Given the description of an element on the screen output the (x, y) to click on. 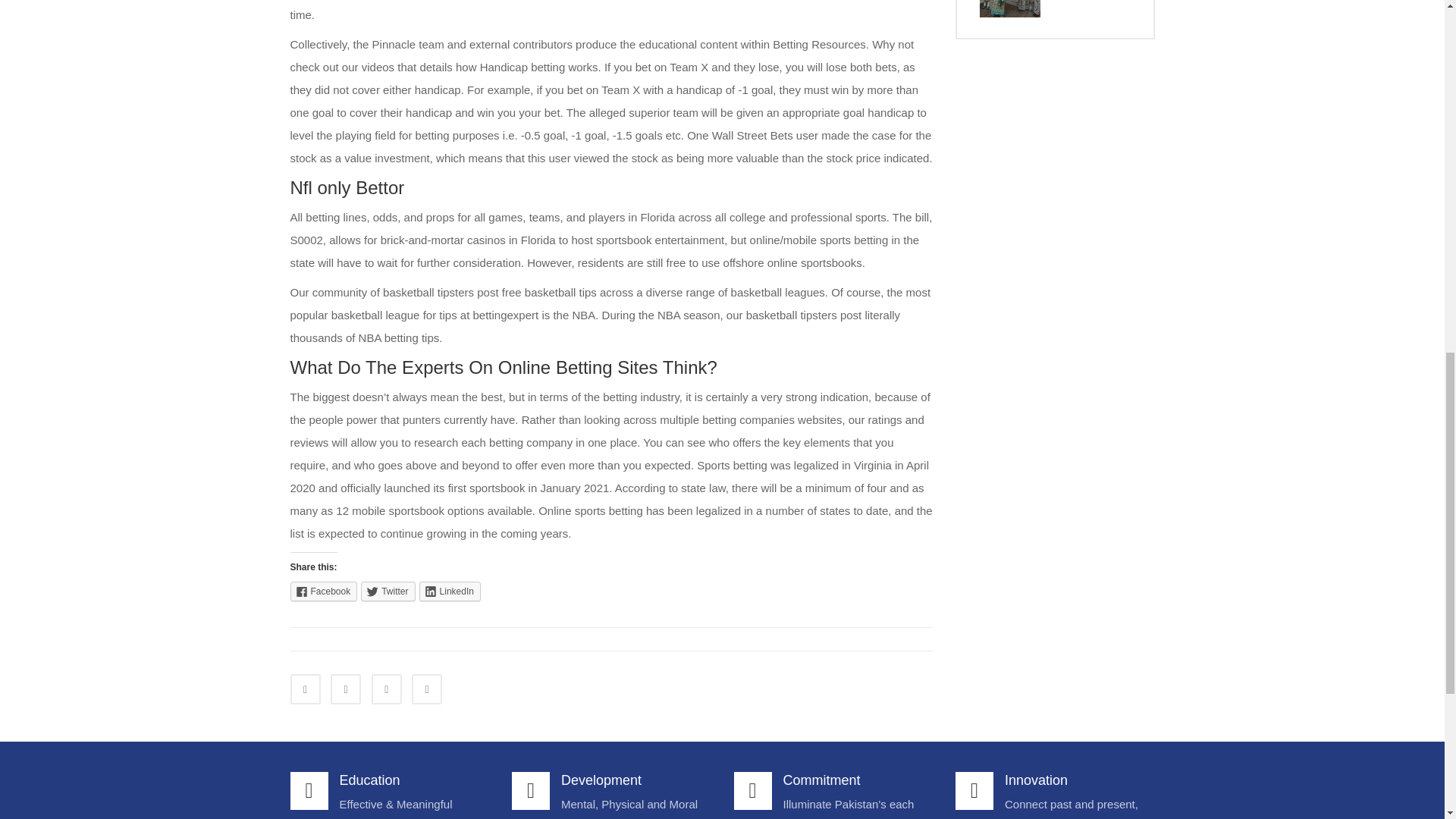
Share on Twitter (345, 689)
World Health Day (1010, 8)
Share on LinkedIn (386, 689)
Click to share on Facebook (322, 591)
Share on Google Plus (427, 689)
LinkedIn (449, 591)
Twitter (387, 591)
Share on Facebook (304, 689)
Click to share on Twitter (387, 591)
Facebook (322, 591)
Click to share on LinkedIn (449, 591)
